Given the description of an element on the screen output the (x, y) to click on. 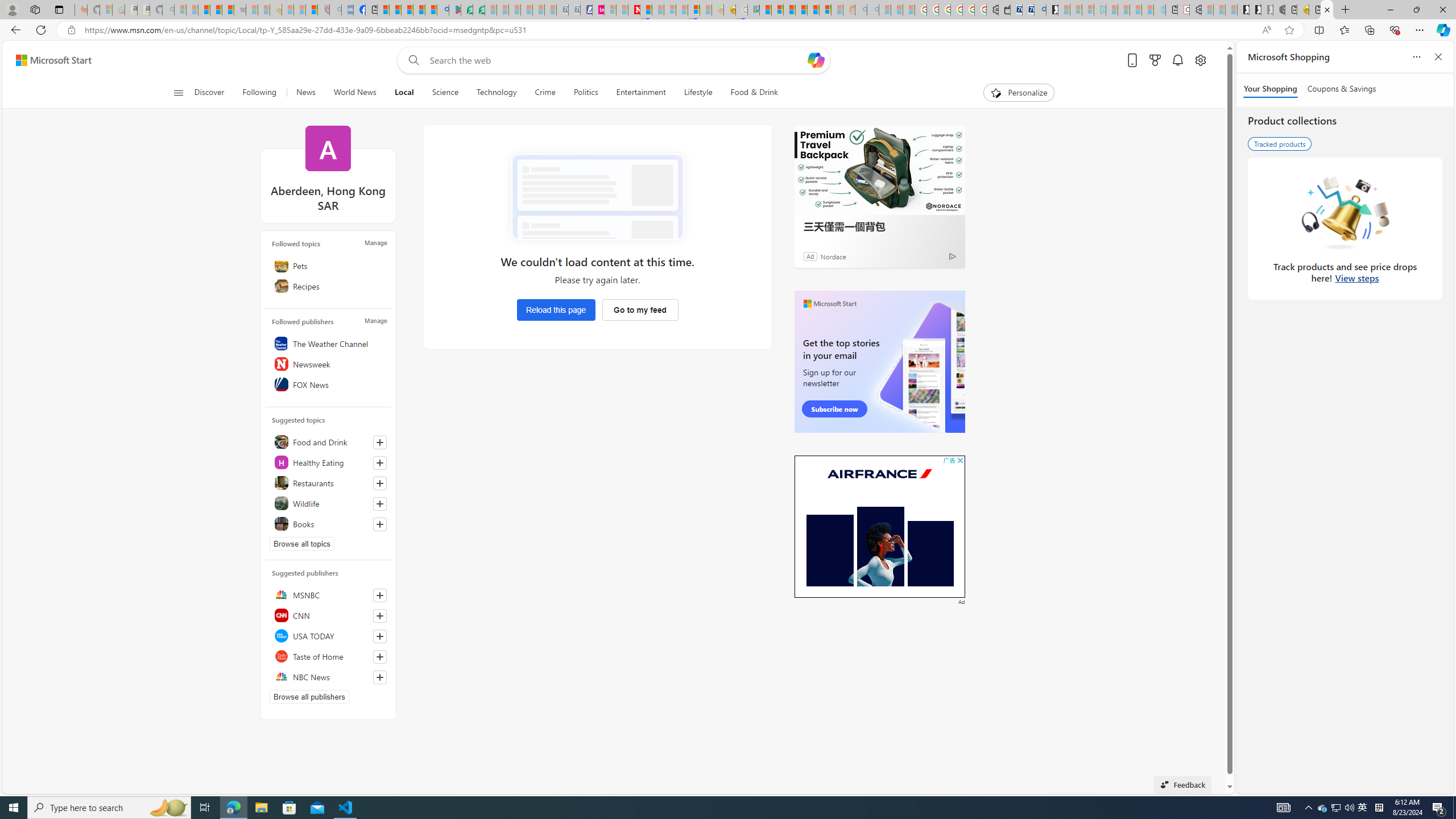
World News (355, 92)
Lifestyle (698, 92)
Crime (545, 92)
Subscribe now (834, 408)
Expert Portfolios (801, 9)
Microsoft rewards (1154, 60)
14 Common Myths Debunked By Scientific Facts - Sleeping (657, 9)
